Given the description of an element on the screen output the (x, y) to click on. 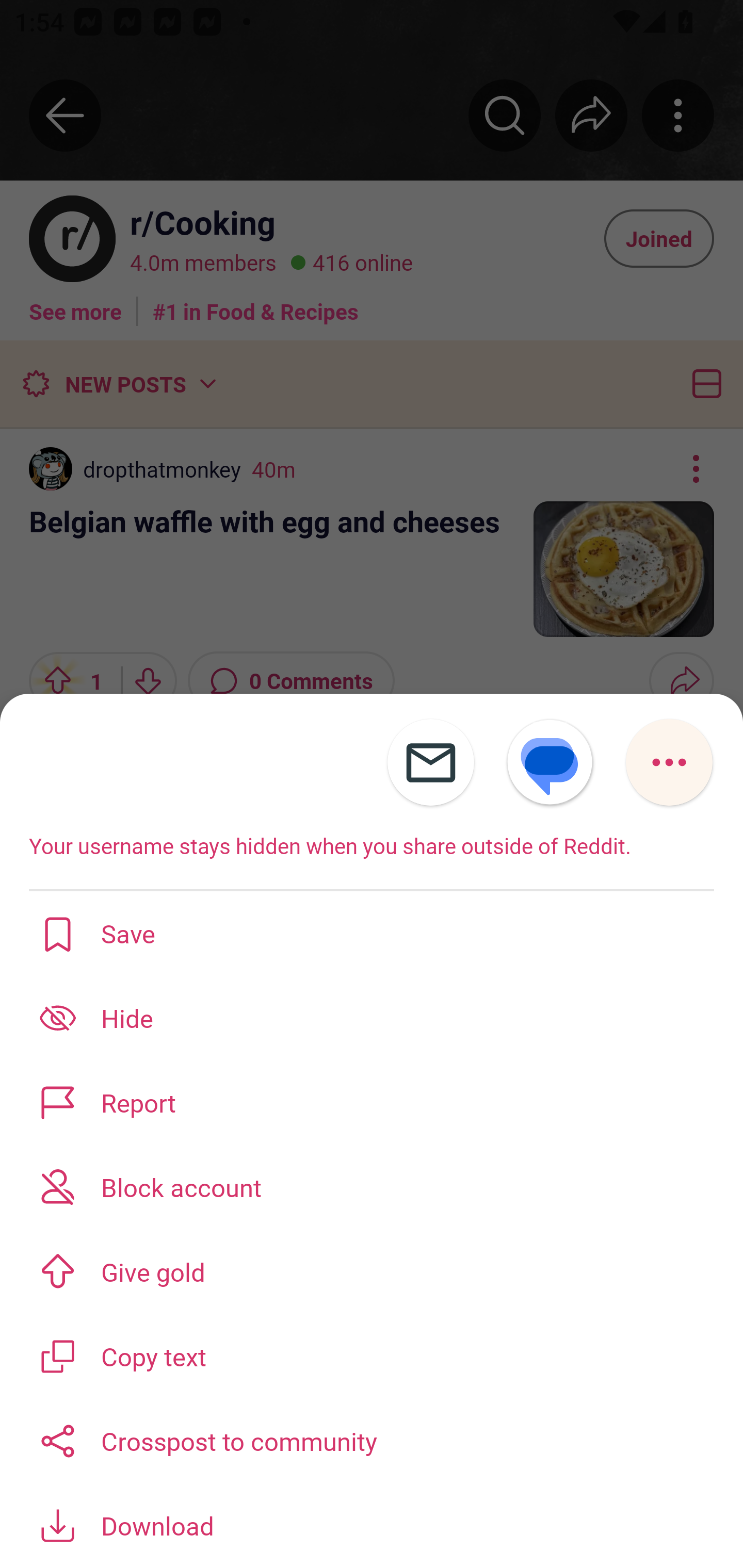
Email (430, 762)
SMS (549, 762)
More (668, 762)
Save (371, 932)
Hide (371, 1017)
Report (371, 1101)
Block account (371, 1186)
Give gold (371, 1271)
Copy text (371, 1355)
Crosspost to community (371, 1439)
Download (371, 1524)
